Given the description of an element on the screen output the (x, y) to click on. 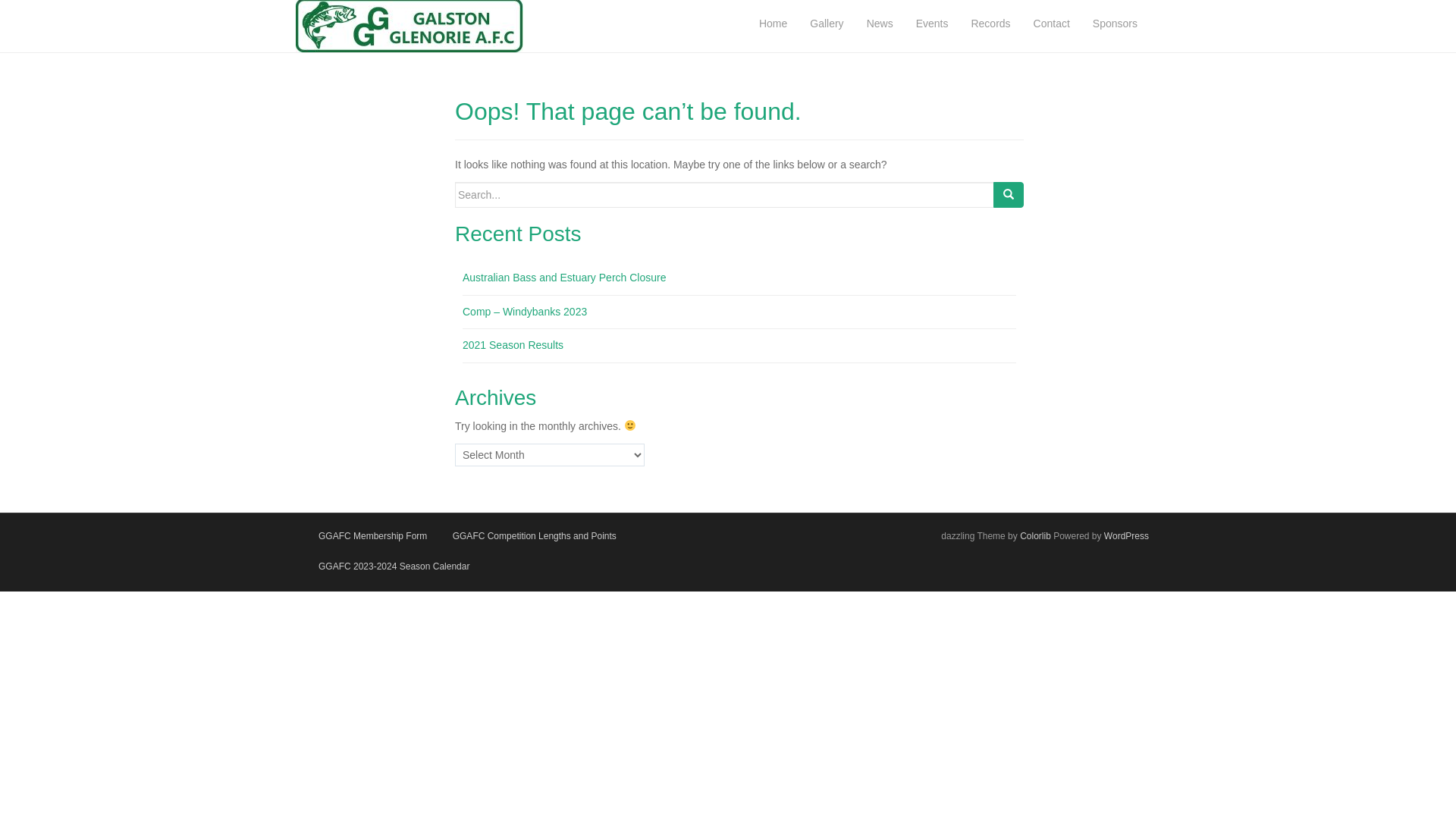
Colorlib Element type: text (1035, 535)
Search Element type: text (1008, 194)
WordPress Element type: text (1126, 535)
GGAFC Membership Form Element type: text (372, 535)
Australian Bass and Estuary Perch Closure Element type: text (563, 277)
GGAFC Competition Lengths and Points Element type: text (534, 535)
2021 Season Results Element type: text (512, 344)
GGAFC 2023-2024 Season Calendar Element type: text (393, 566)
